Given the description of an element on the screen output the (x, y) to click on. 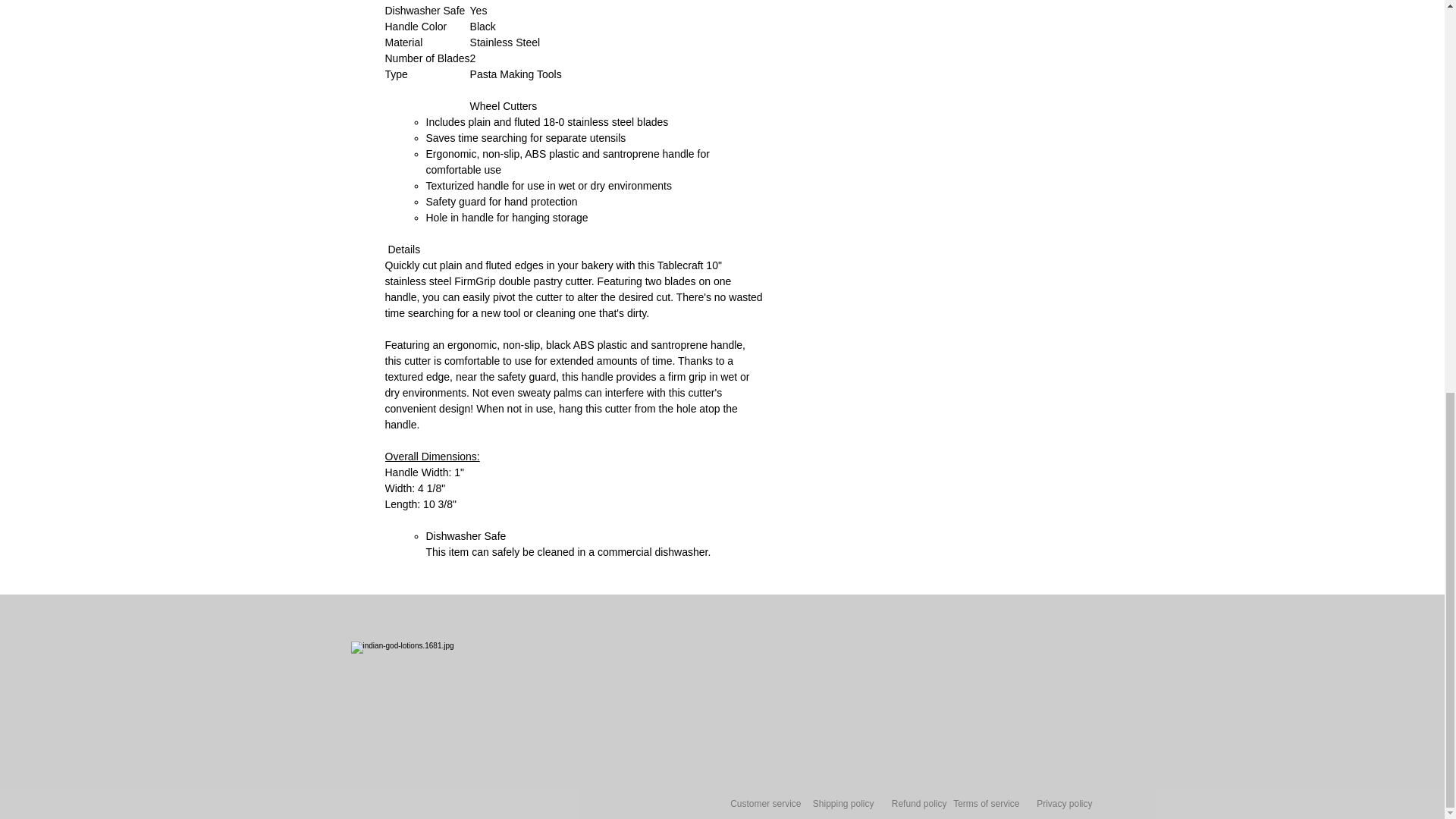
Privacy policy (1064, 803)
Terms of service (986, 803)
Shipping policy (843, 803)
Refund policy (919, 803)
Customer service (765, 803)
